Given the description of an element on the screen output the (x, y) to click on. 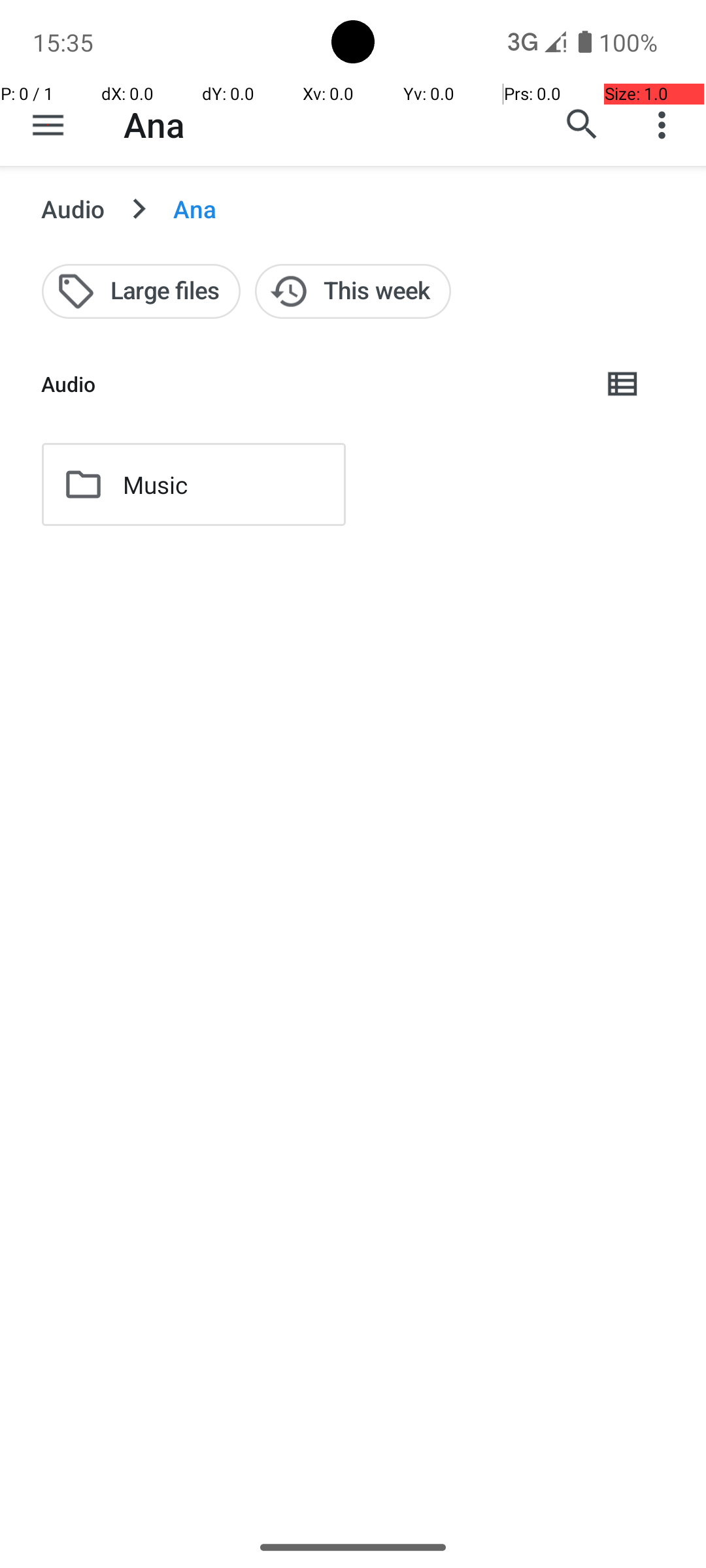
Ana Element type: android.widget.TextView (153, 124)
